Given the description of an element on the screen output the (x, y) to click on. 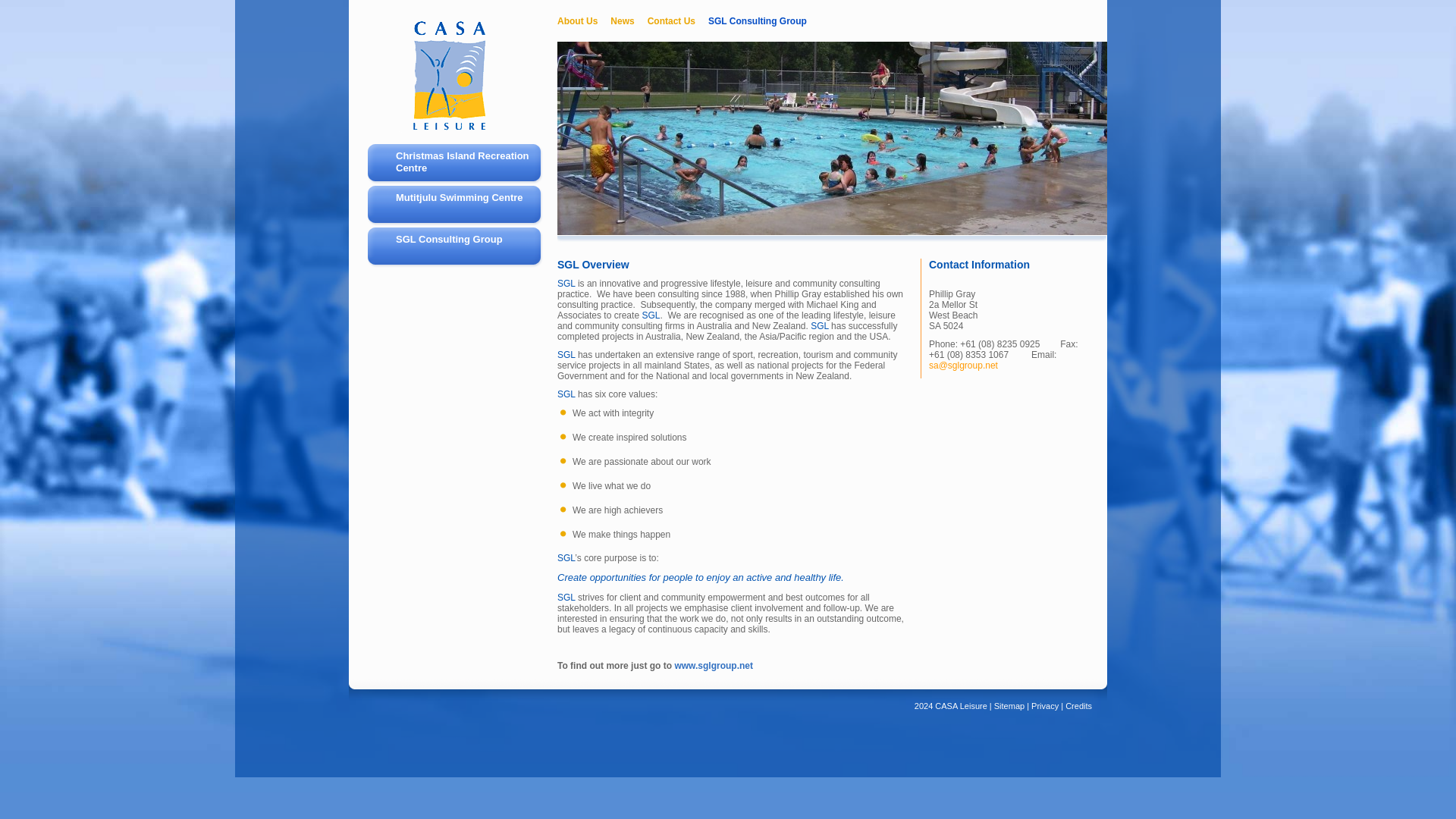
Credits (1078, 705)
SGL Consulting Group (756, 21)
Mutitjulu Swimming Centre (457, 206)
SGL Consulting Group (457, 248)
Christmas Island Recreation Centre (457, 164)
www.sglgroup.net (713, 665)
About Us (583, 21)
News (628, 21)
Contact Us (677, 21)
Sitemap (1009, 705)
